Given the description of an element on the screen output the (x, y) to click on. 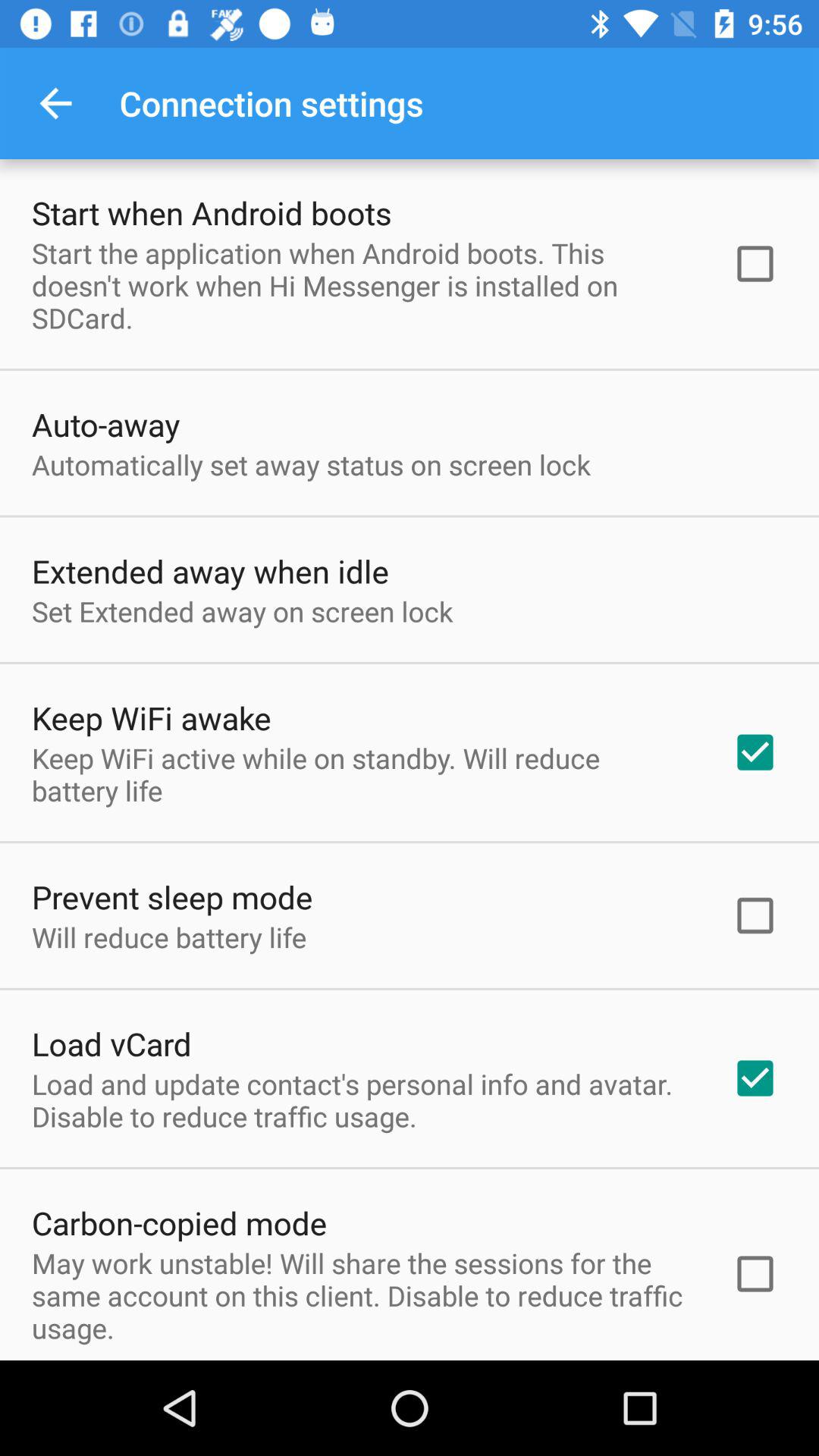
select icon above may work unstable item (179, 1222)
